Given the description of an element on the screen output the (x, y) to click on. 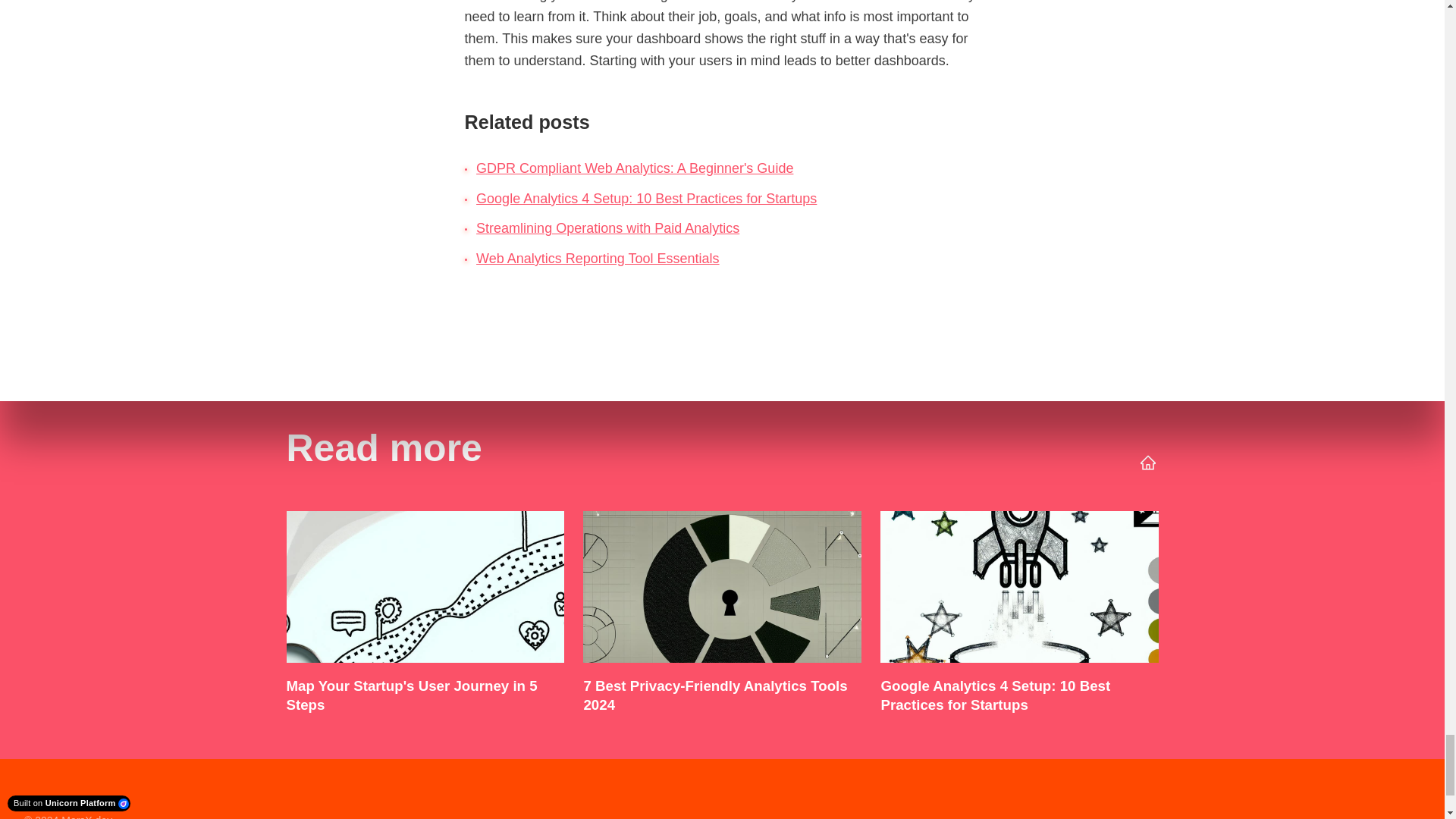
Google Analytics 4 Setup: 10 Best Practices for Startups (646, 198)
MarsX.dev (86, 816)
Streamlining Operations with Paid Analytics (607, 227)
Google Analytics 4 Setup: 10 Best Practices for Startups (1019, 615)
7 Best Privacy-Friendly Analytics Tools 2024 (721, 615)
Web Analytics Reporting Tool Essentials (597, 258)
Map Your Startup's User Journey in 5 Steps (425, 615)
GDPR Compliant Web Analytics: A Beginner's Guide (634, 168)
